Given the description of an element on the screen output the (x, y) to click on. 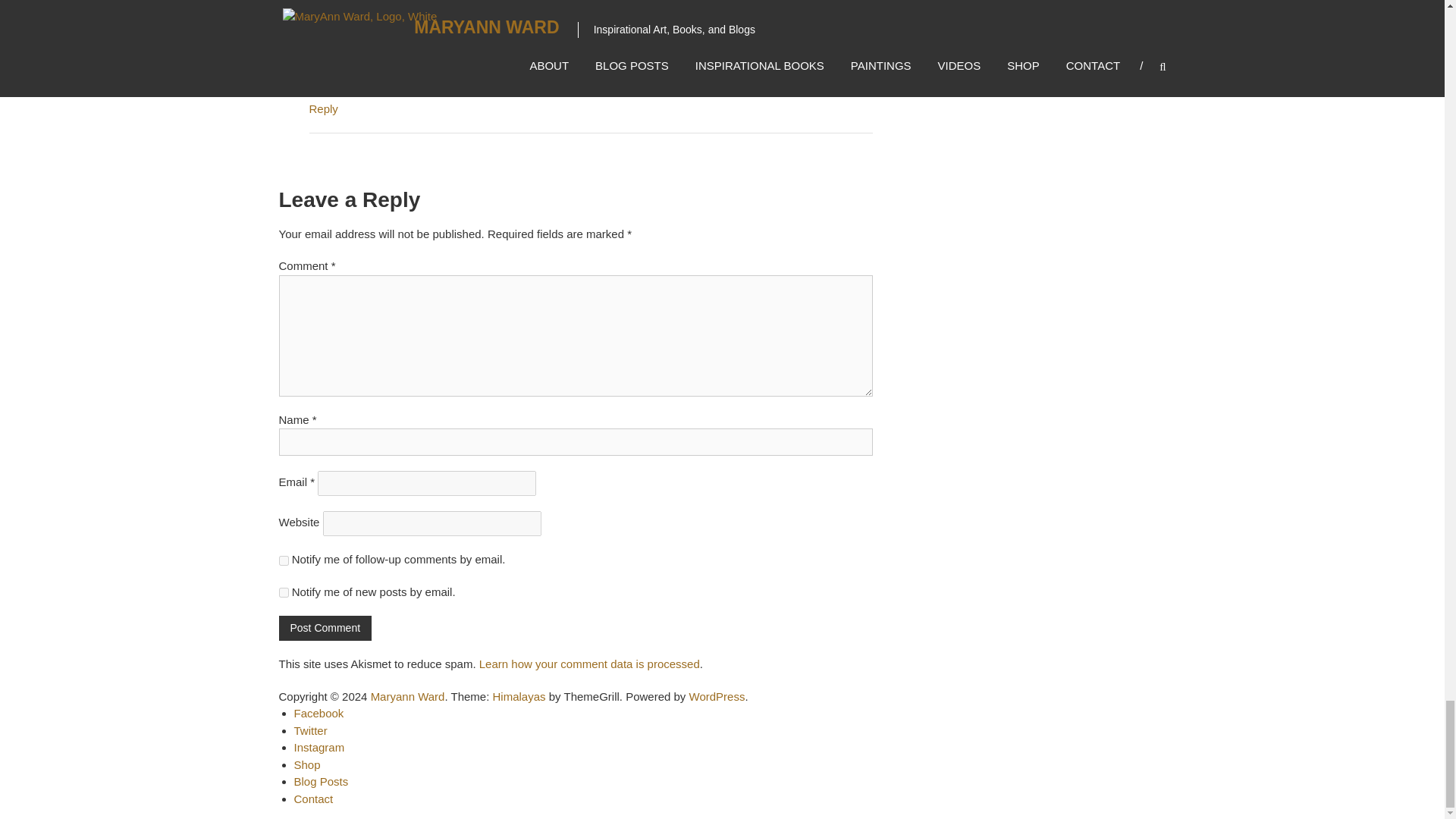
subscribe (283, 560)
Maryann Ward (408, 696)
Himalayas (519, 696)
Post Comment (325, 627)
WordPress (716, 696)
subscribe (283, 592)
